Given the description of an element on the screen output the (x, y) to click on. 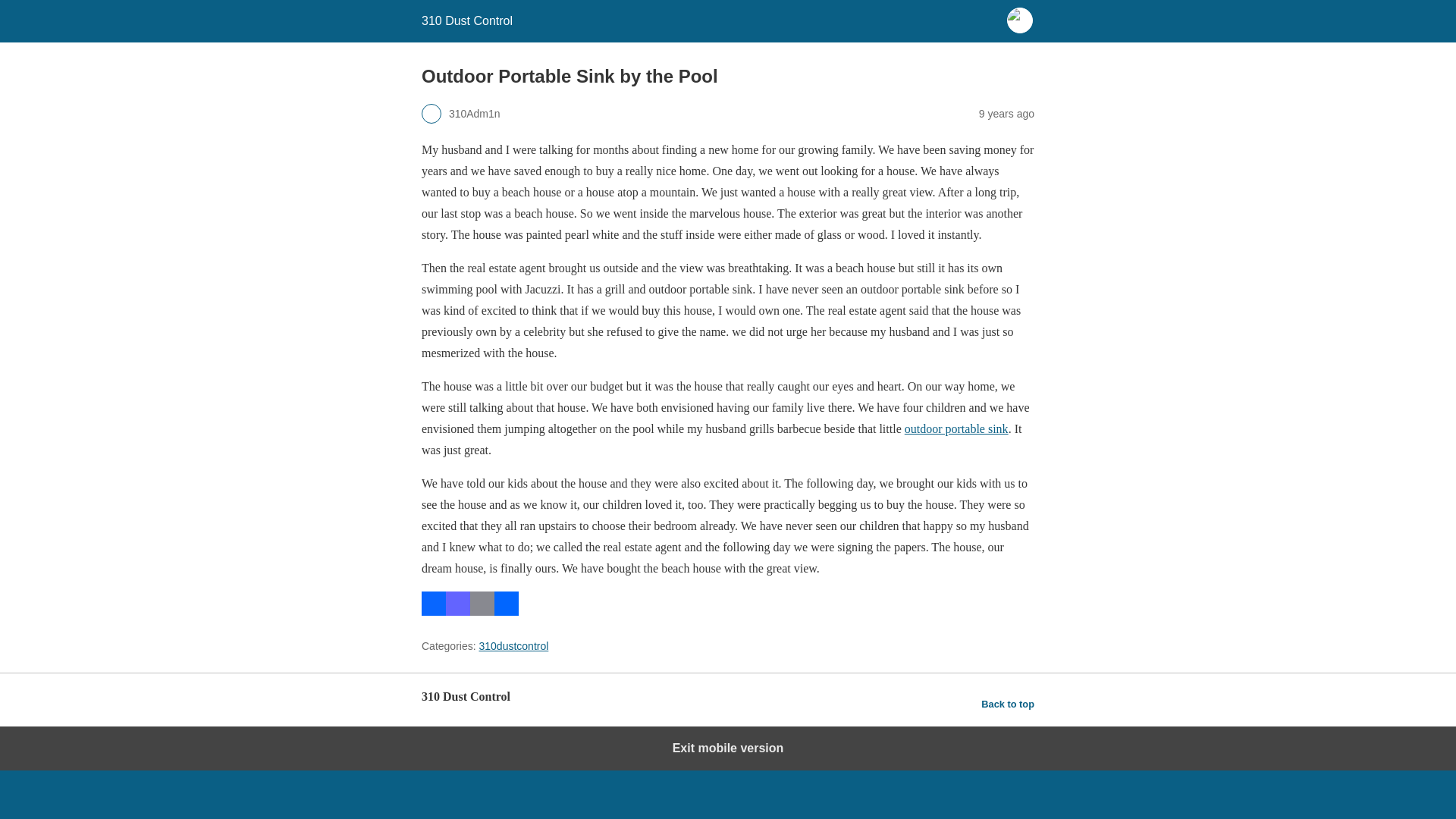
outdoor portable sink (956, 428)
Facebook (433, 611)
Email (482, 611)
310 Dust Control (467, 20)
Mastodon (457, 611)
310dustcontrol (513, 645)
Back to top (1007, 704)
